Given the description of an element on the screen output the (x, y) to click on. 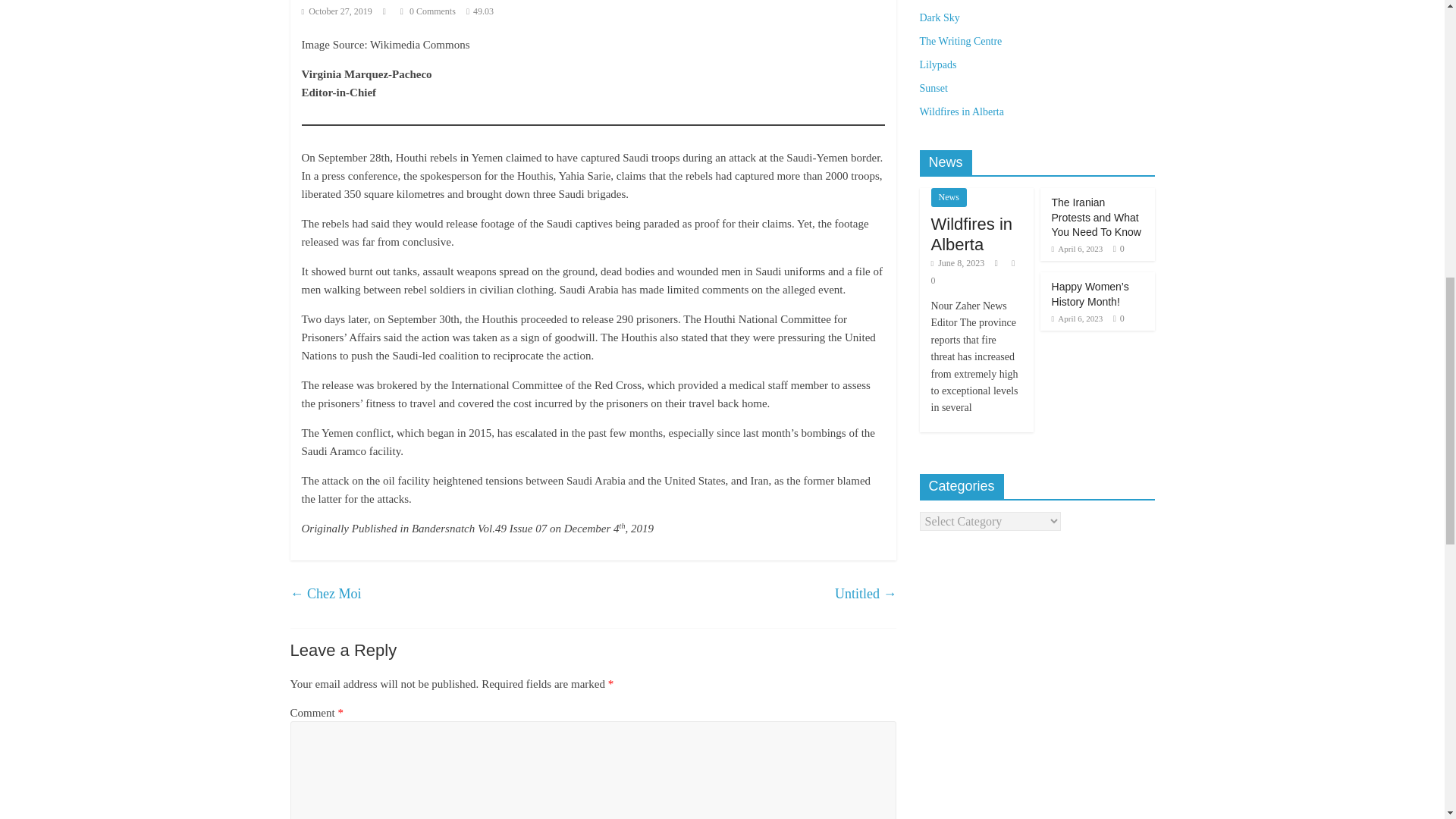
8:30 am (1077, 317)
October 27, 2019 (336, 10)
The Iranian Protests and What You Need To Know (1096, 217)
Wildfires in Alberta (972, 233)
49.03 (483, 10)
0 Comments (427, 10)
3:34 pm (336, 10)
8:30 am (1077, 248)
9:34 am (958, 262)
